Given the description of an element on the screen output the (x, y) to click on. 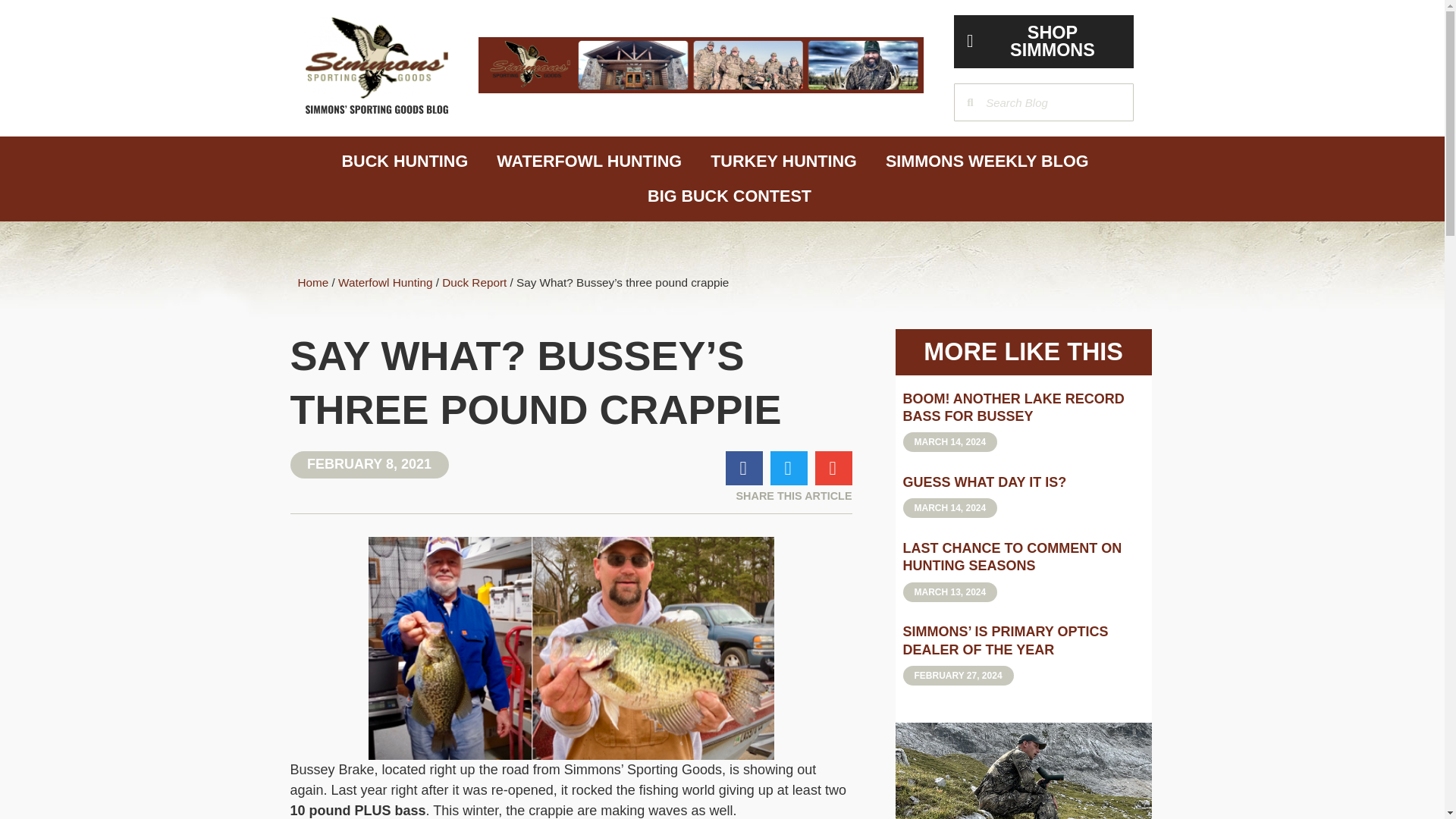
SIMMONS WEEKLY BLOG (987, 161)
Home (313, 282)
LAST CHANCE TO COMMENT ON HUNTING SEASONS (1011, 556)
BIG BUCK CONTEST (728, 196)
SHOP SIMMONS (1043, 41)
BUCK HUNTING (403, 161)
BOOM! ANOTHER LAKE RECORD BASS FOR BUSSEY (1013, 407)
Duck Report (474, 282)
Waterfowl Hunting (384, 282)
WATERFOWL HUNTING (588, 161)
